Given the description of an element on the screen output the (x, y) to click on. 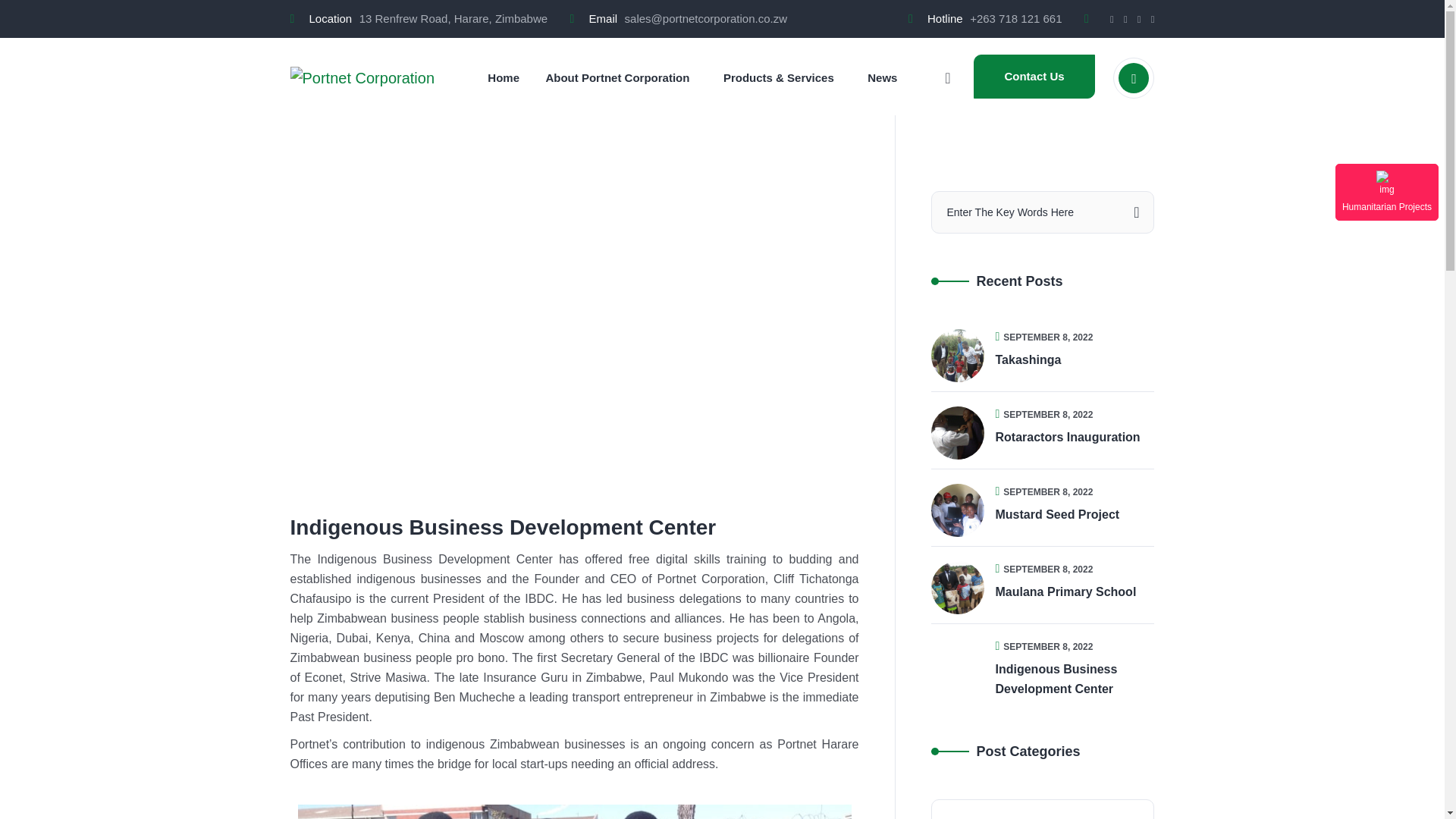
News (881, 77)
Humanitarian Projects (1386, 191)
Home (503, 77)
Contact Us (1034, 76)
About Portnet Corporation (616, 77)
